Given the description of an element on the screen output the (x, y) to click on. 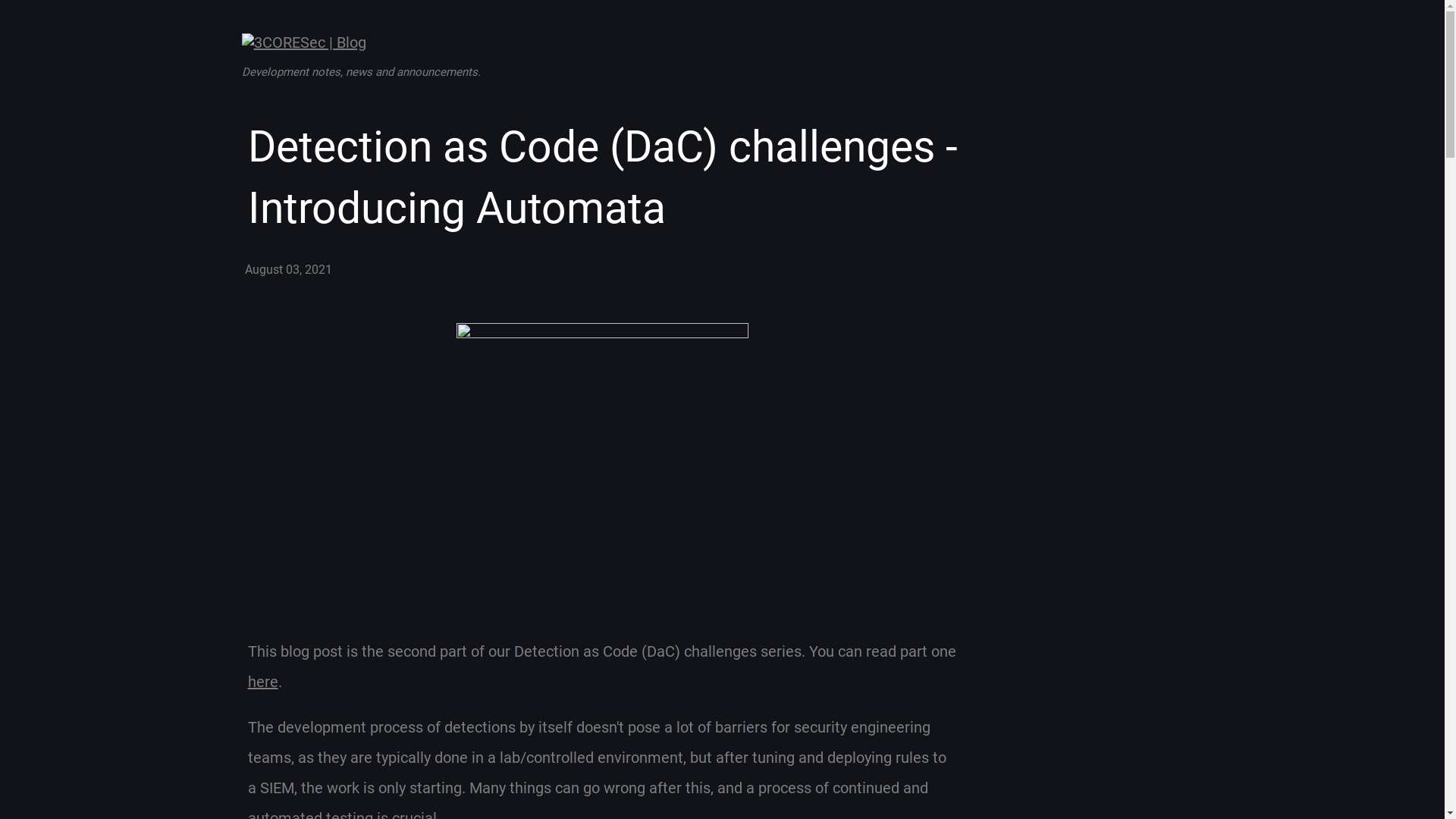
here Element type: text (262, 680)
August 03, 2021 Element type: text (287, 268)
